Given the description of an element on the screen output the (x, y) to click on. 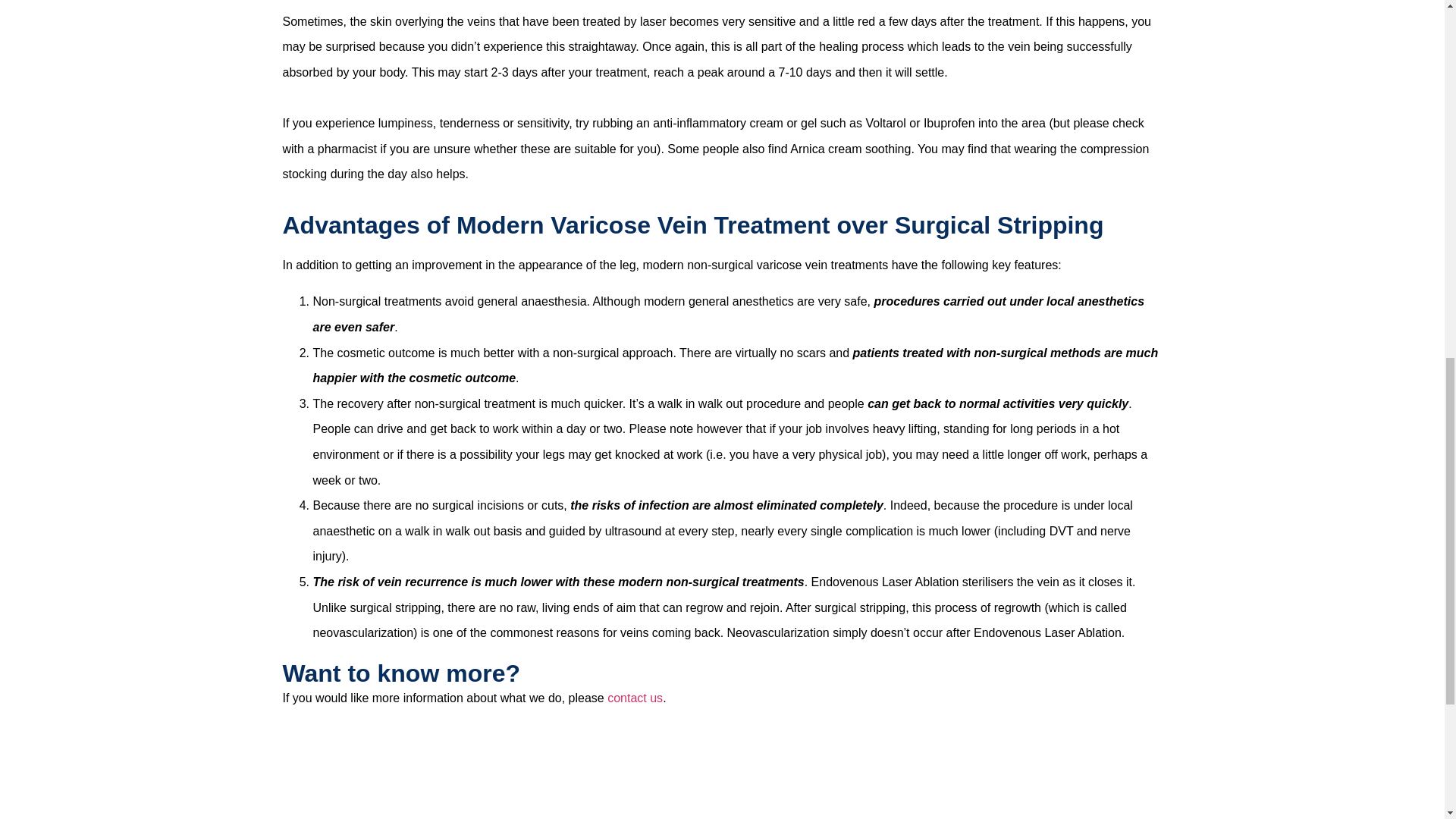
contact us (634, 697)
